Given the description of an element on the screen output the (x, y) to click on. 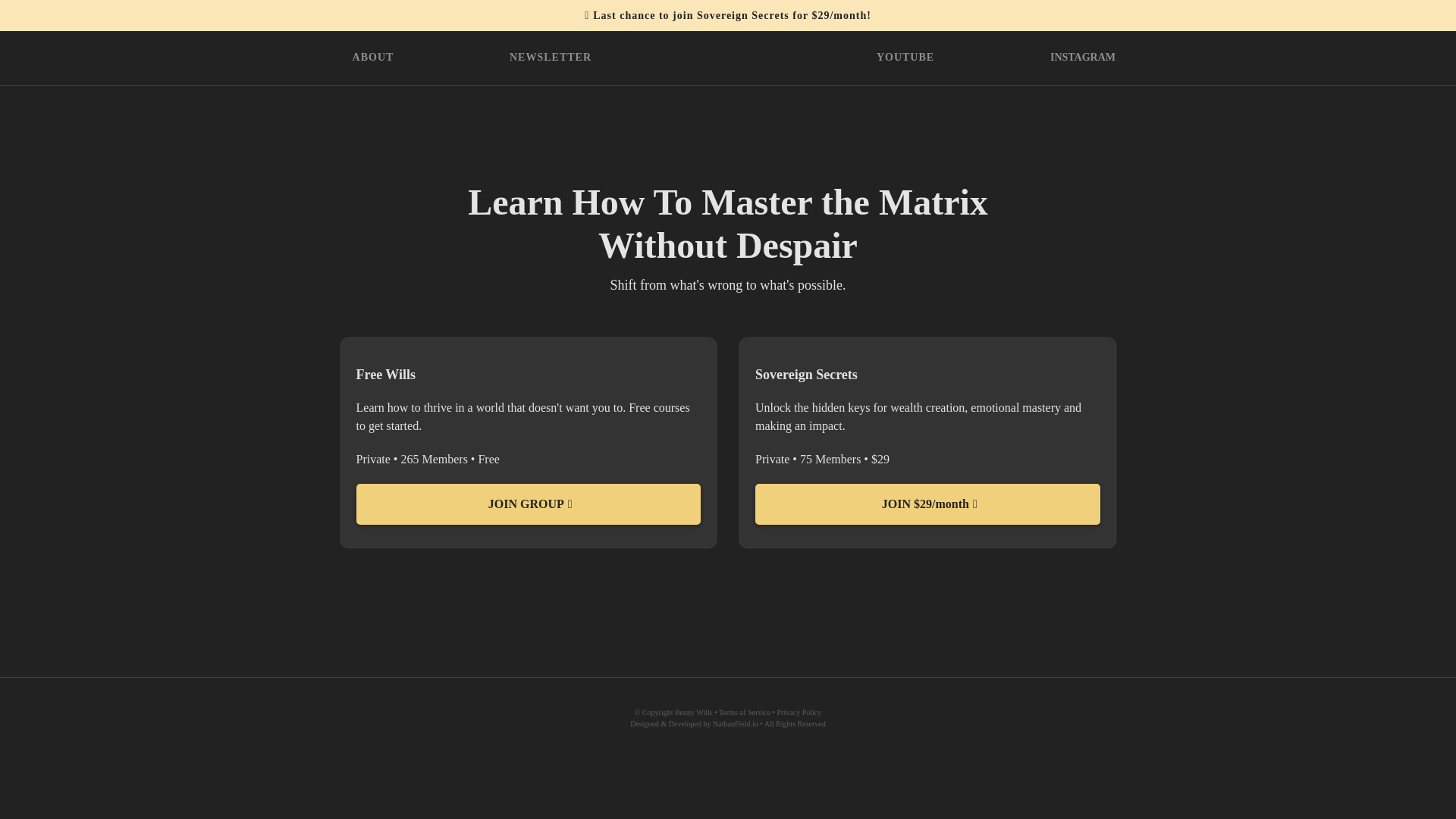
INSTAGRAM (1082, 57)
ABOUT (373, 57)
NEWSLETTER (550, 57)
JOIN GROUP (528, 504)
YOUTUBE (904, 57)
